Given the description of an element on the screen output the (x, y) to click on. 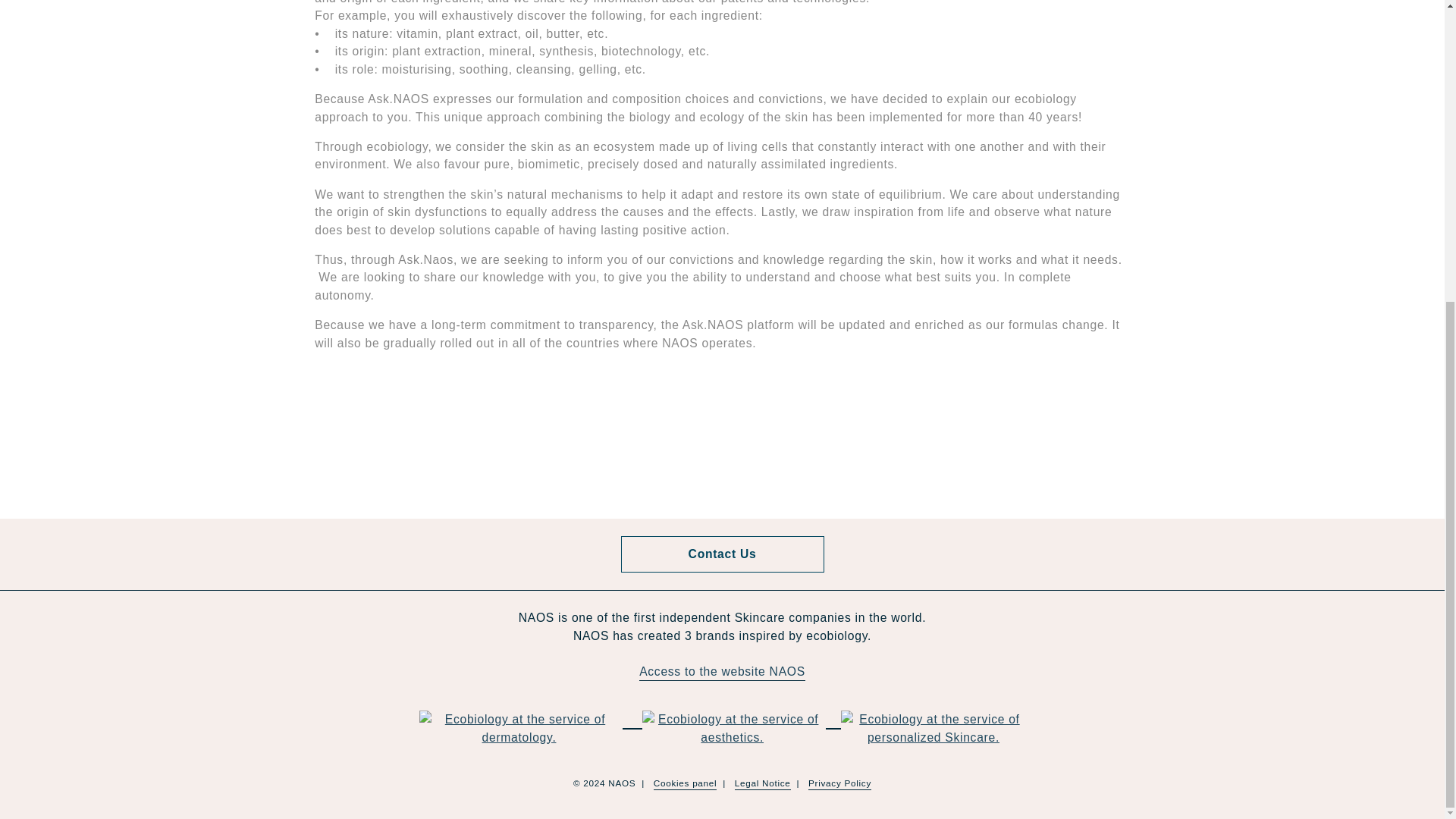
Access to the website NAOS (722, 671)
Legal Notice (762, 784)
Privacy Policy (839, 784)
Contact Us (722, 554)
Cookies panel (685, 784)
